Given the description of an element on the screen output the (x, y) to click on. 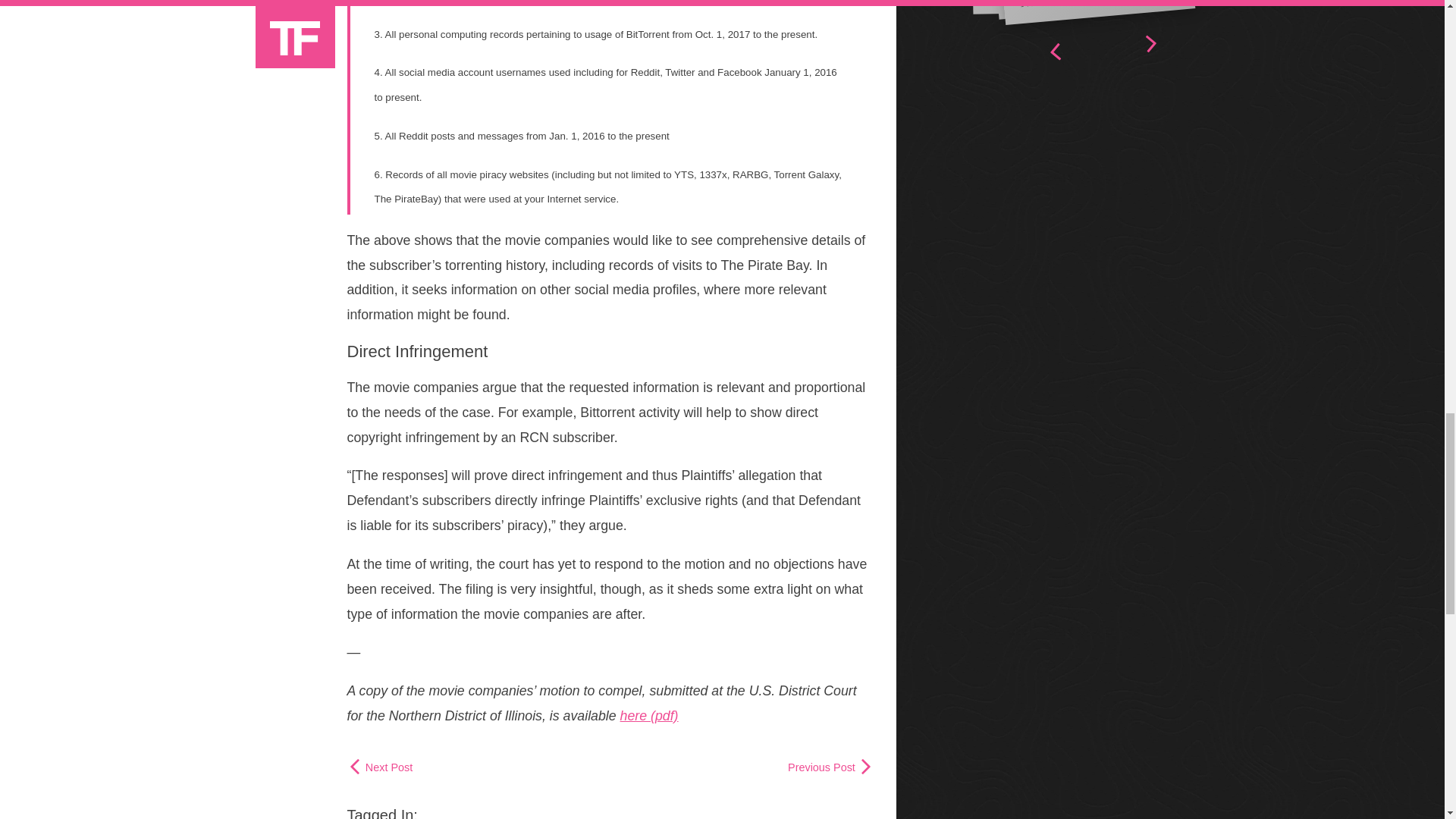
Previous Post (830, 766)
Demonoid Returns, Website Now Back Online (1080, 4)
Next Post (380, 766)
